Given the description of an element on the screen output the (x, y) to click on. 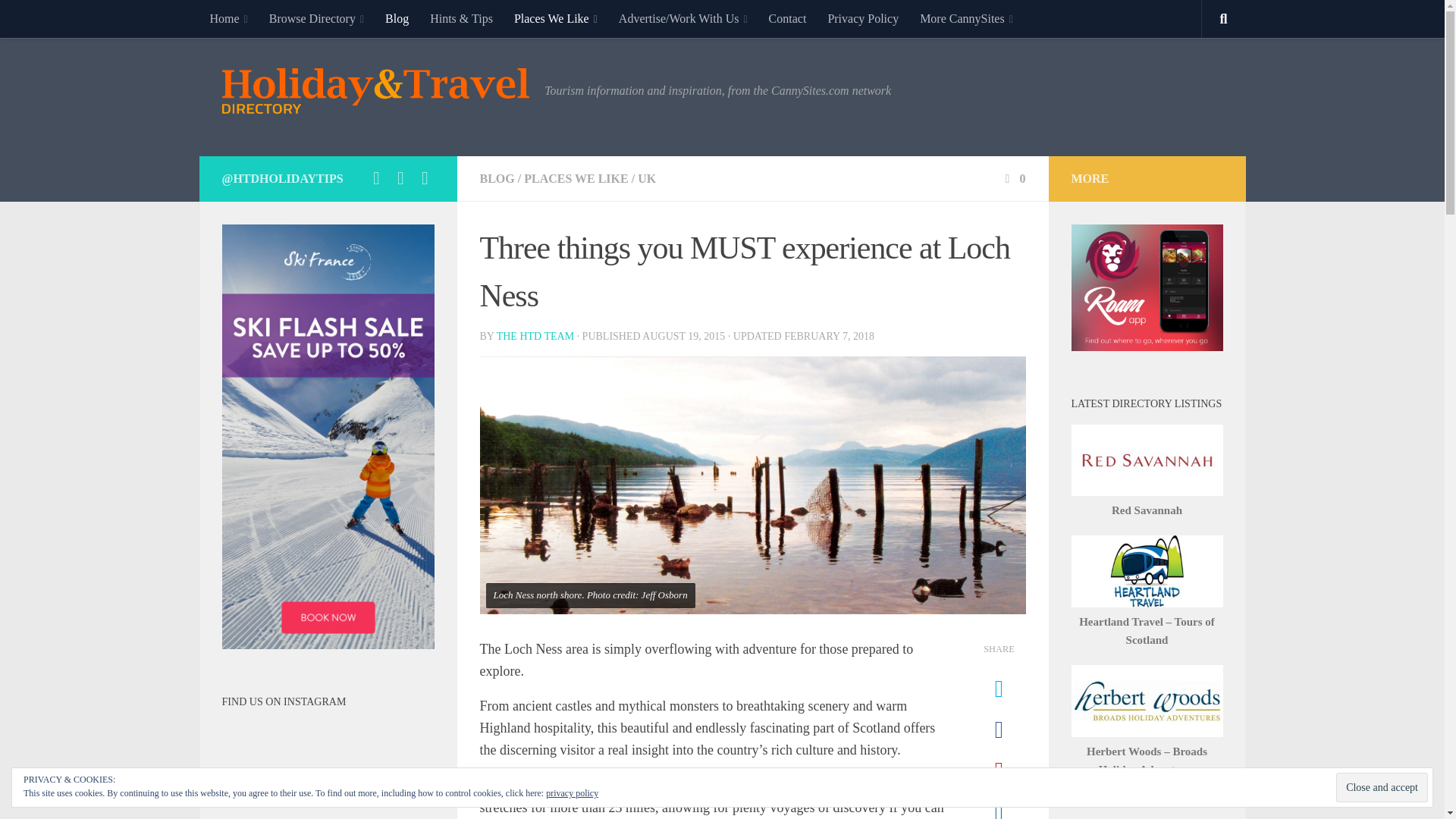
Posts by The HTD Team (534, 336)
Skip to content (59, 20)
Like us on Facebook (400, 177)
Follow us on Instagram (423, 177)
Close and accept (1382, 787)
Follow us on Twitter (375, 177)
